Given the description of an element on the screen output the (x, y) to click on. 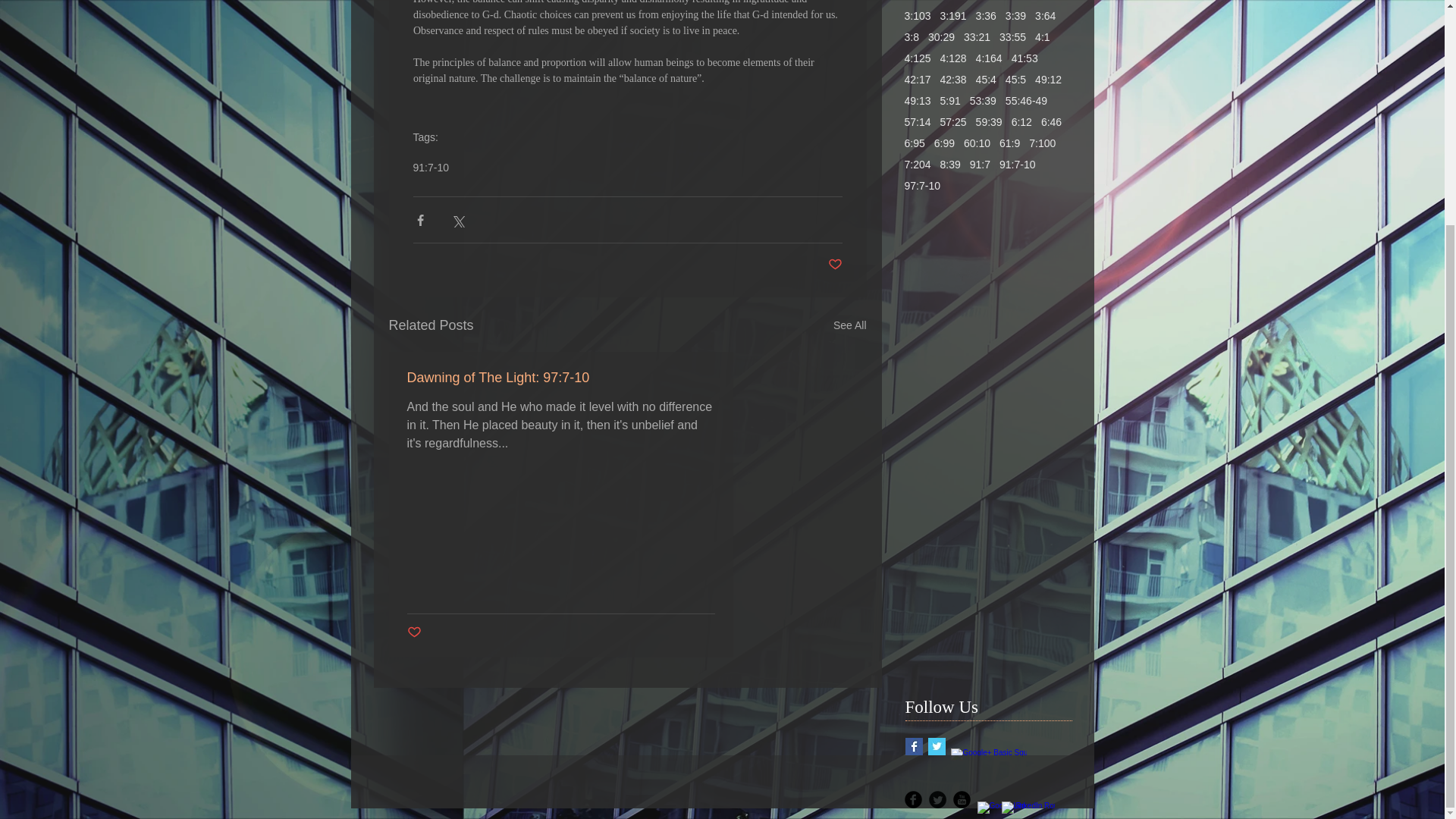
Post not marked as liked (413, 632)
91:7-10 (430, 167)
See All (849, 325)
Dawning of The Light: 97:7-10 (560, 377)
Post not marked as liked (835, 264)
